Given the description of an element on the screen output the (x, y) to click on. 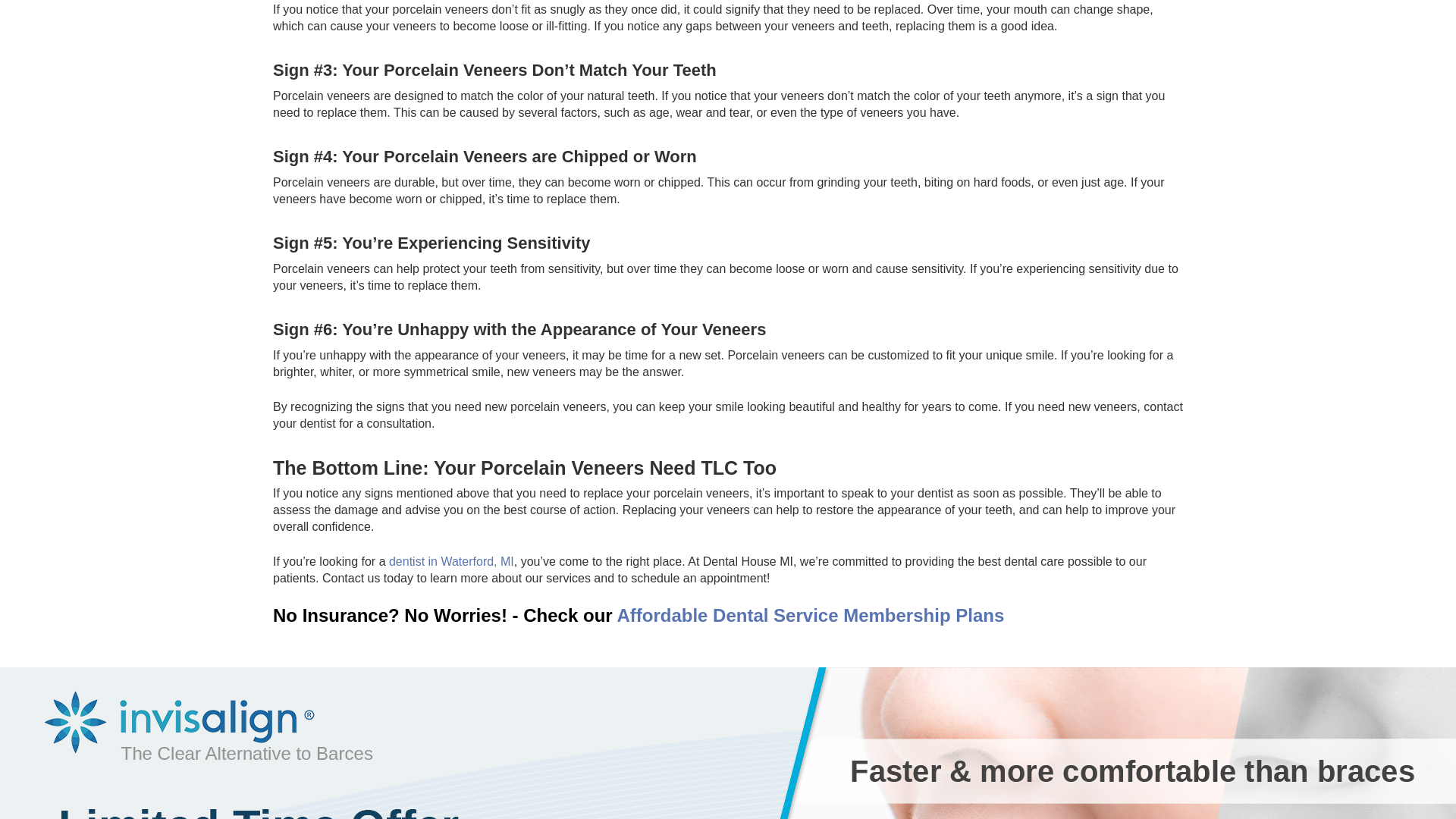
Affordable Dental Service Membership Plans (809, 615)
